Given the description of an element on the screen output the (x, y) to click on. 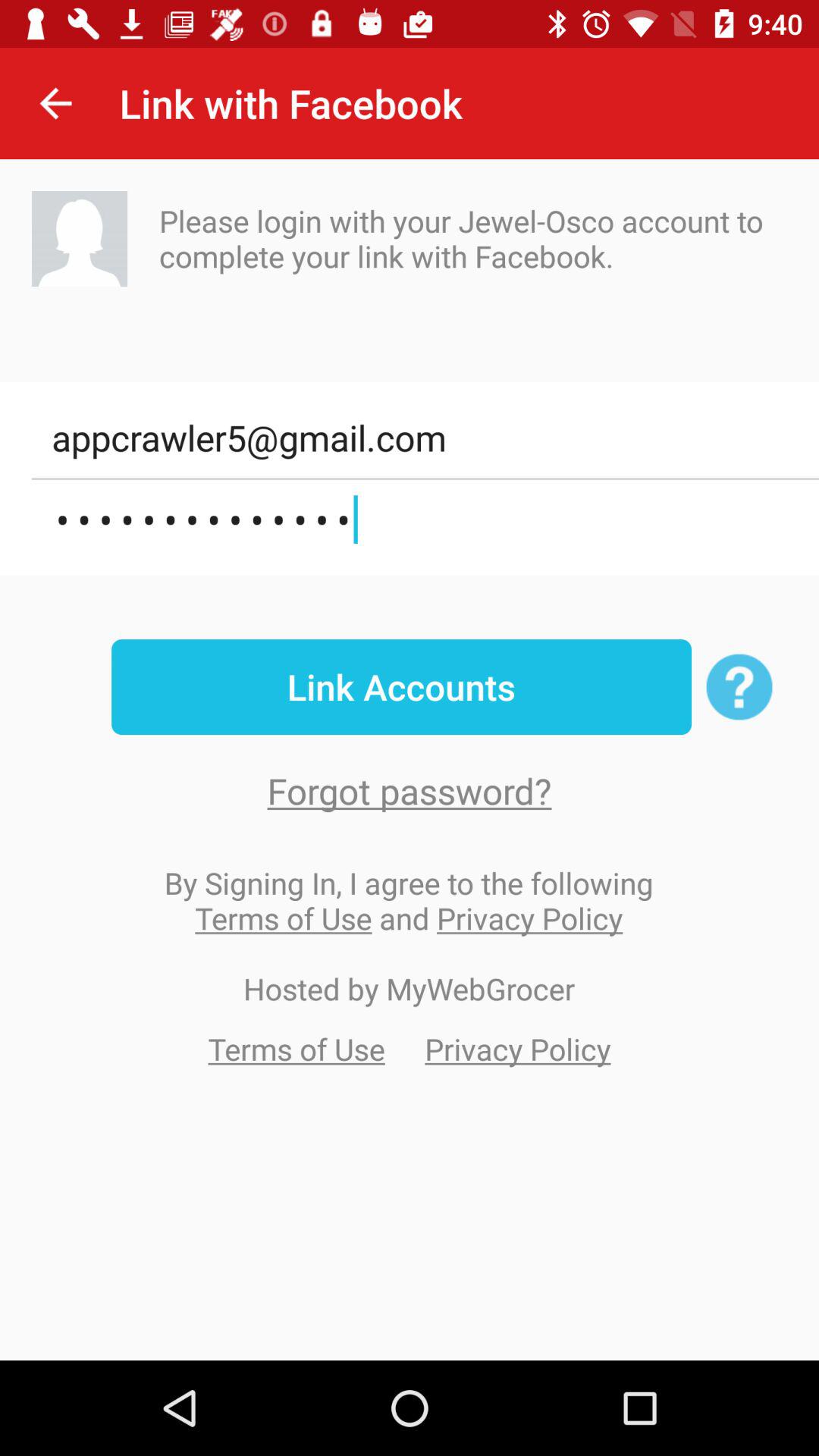
jump until appcrawler3116 (425, 519)
